Given the description of an element on the screen output the (x, y) to click on. 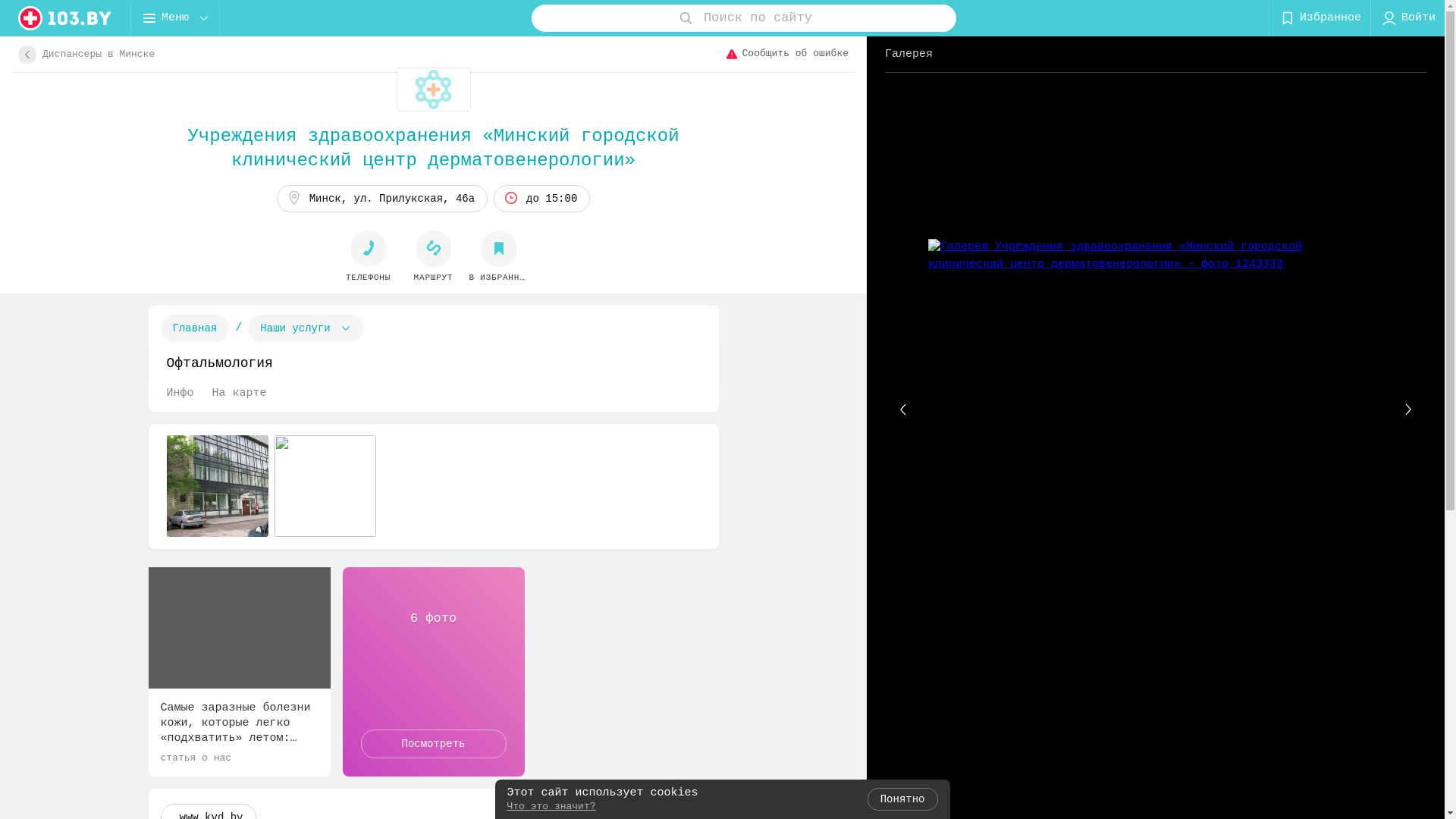
logo Element type: hover (65, 18)
